Given the description of an element on the screen output the (x, y) to click on. 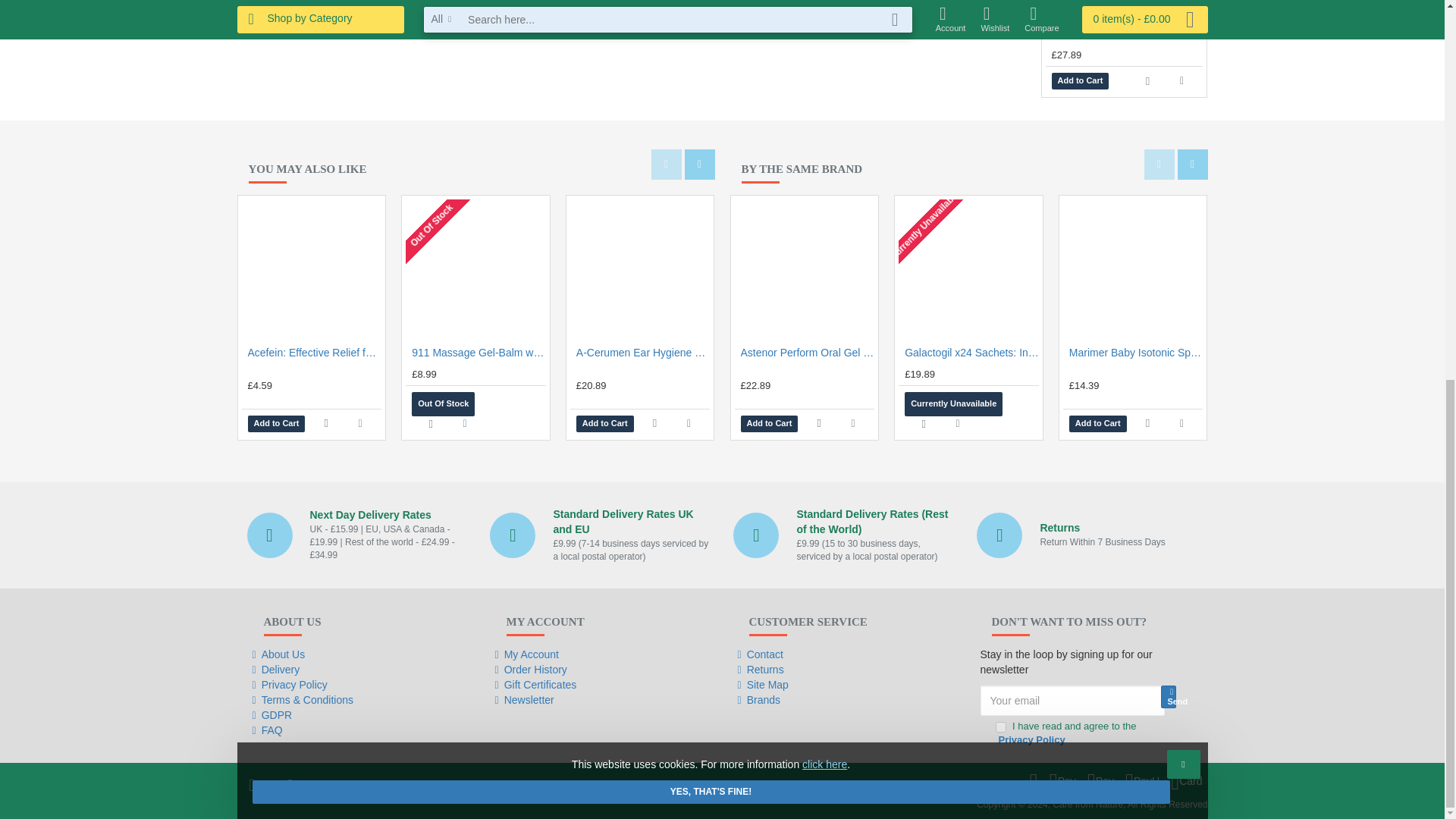
click here (824, 60)
1 (1000, 726)
YES, THAT'S FINE! (710, 87)
